Given the description of an element on the screen output the (x, y) to click on. 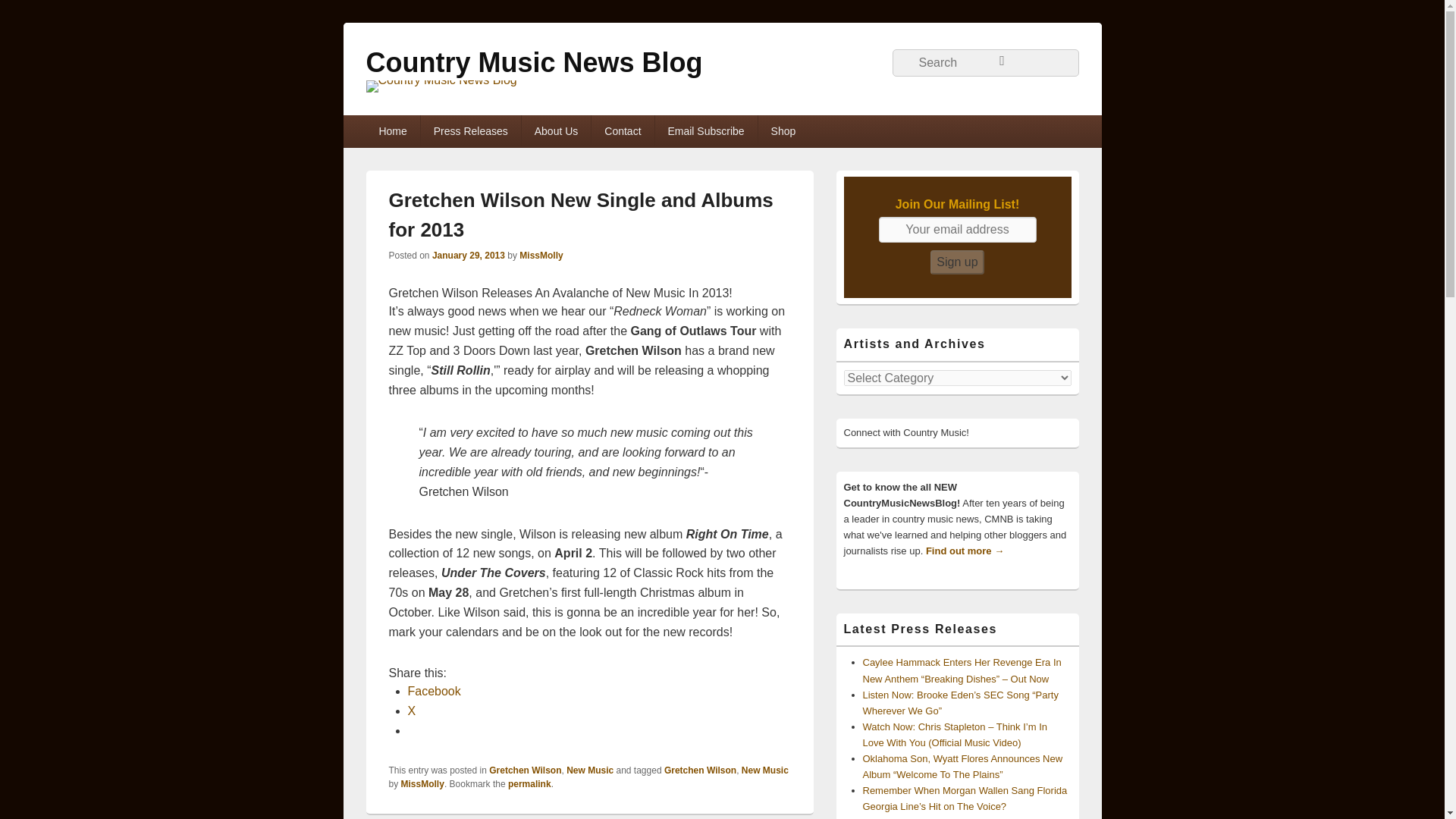
Press Releases (470, 131)
Search for: (984, 62)
Sign up (957, 262)
Facebook (434, 690)
MissMolly (422, 783)
Sign up (957, 262)
Email Subscribe (706, 131)
January 29, 2013 (468, 255)
About Us (556, 131)
MissMolly (540, 255)
